Given the description of an element on the screen output the (x, y) to click on. 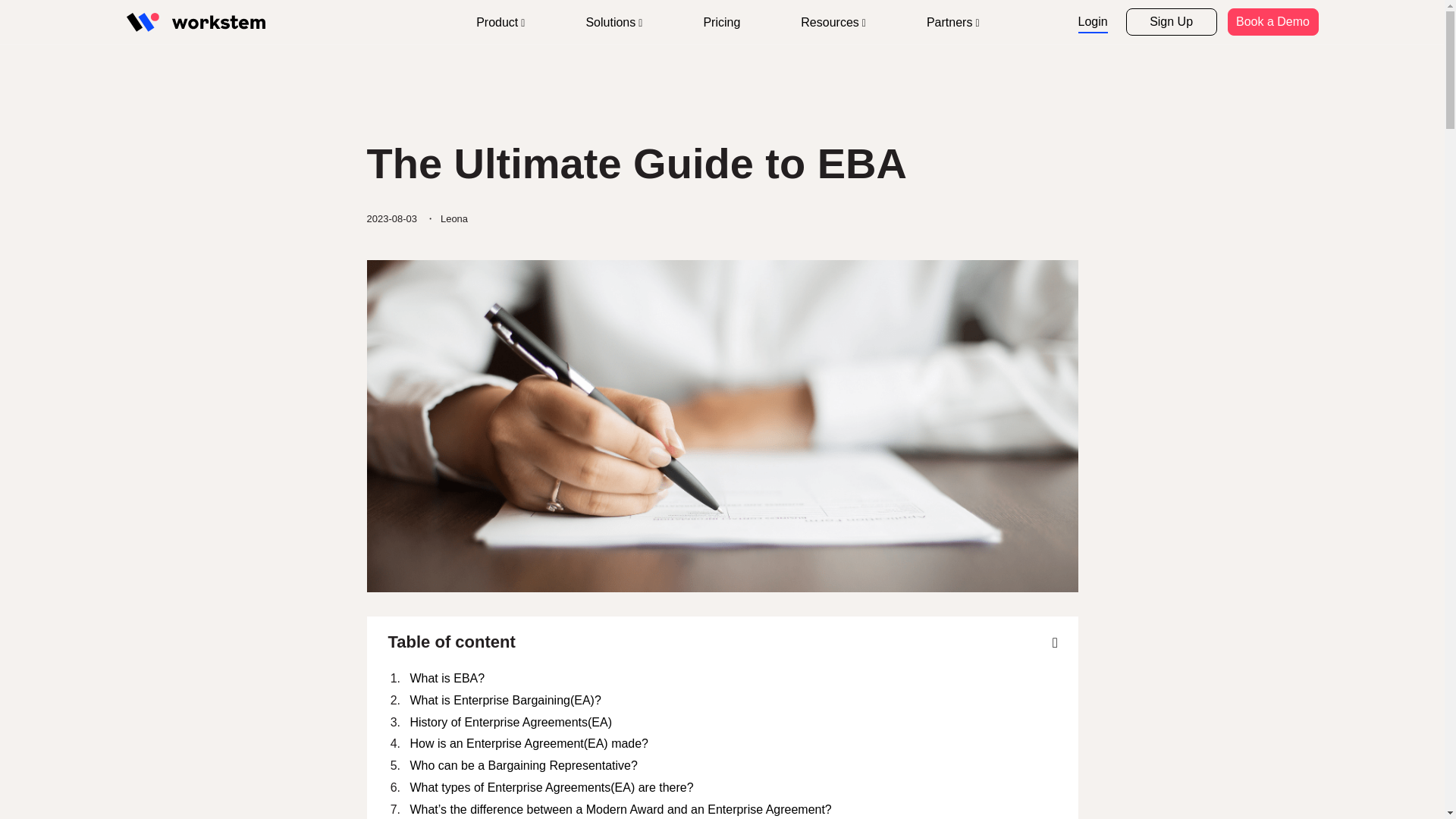
What is EBA? (733, 679)
Workstem Australia (194, 22)
Sign Up (1171, 22)
Skip to content (300, 5)
Resources (833, 22)
Login (1093, 22)
Product (499, 22)
Who can be a Bargaining Representative? (733, 766)
Pricing (721, 22)
Solutions (613, 22)
Skip to content (300, 5)
Partners (953, 22)
Book a Demo (1272, 22)
